Given the description of an element on the screen output the (x, y) to click on. 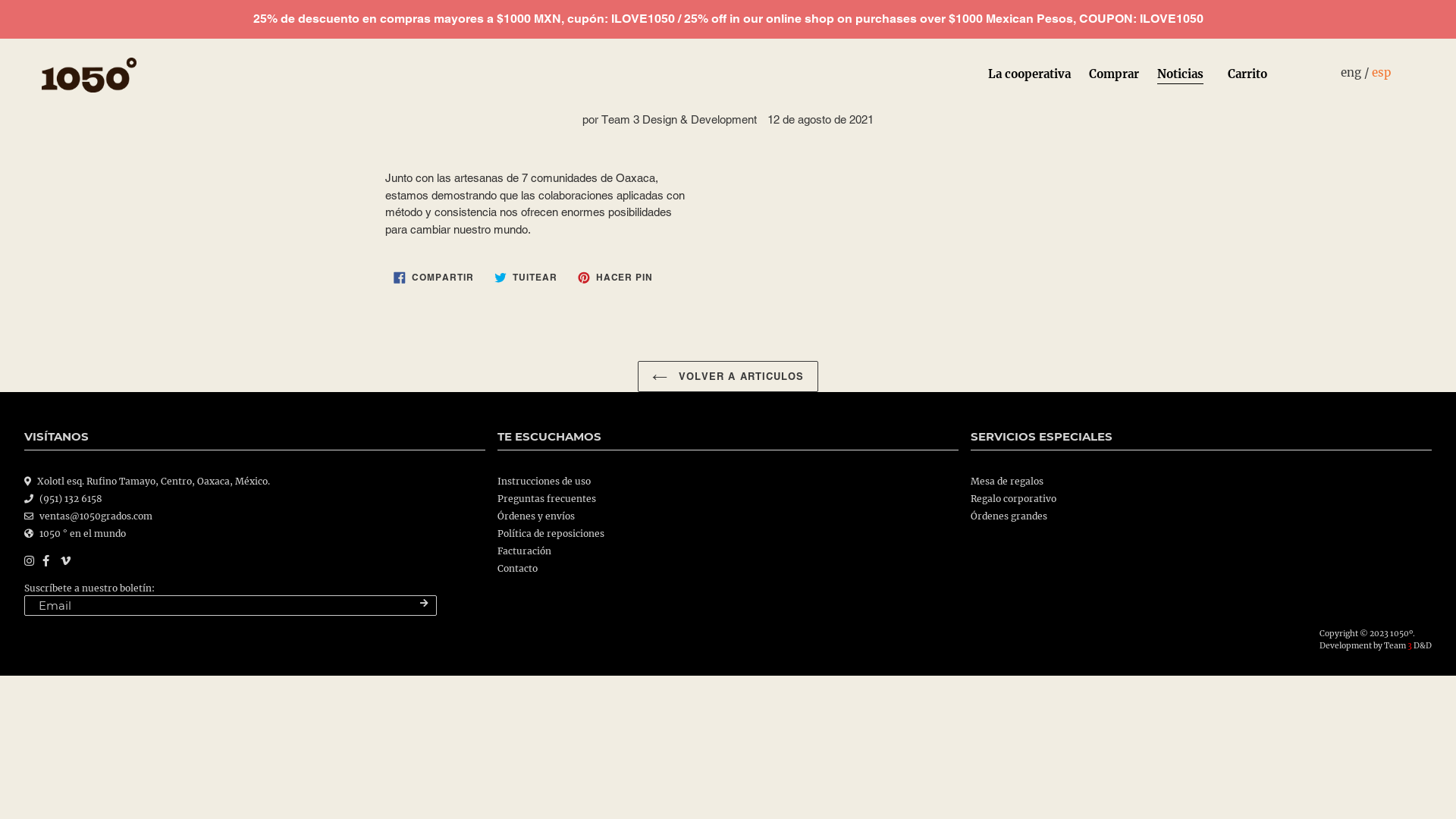
Preguntas frecuentes Element type: text (546, 498)
(951) 132 6158 Element type: text (70, 498)
Comprar Element type: text (1113, 74)
COMPARTIR
COMPARTIR EN FACEBOOK Element type: text (433, 277)
Instrucciones de uso Element type: text (543, 481)
TUITEAR
TUITEAR EN TWITTER Element type: text (525, 277)
HACER PIN
PINEAR EN PINTEREST Element type: text (615, 277)
Contacto Element type: text (517, 567)
La cooperativa Element type: text (1029, 74)
Carrito Element type: text (1247, 74)
Development by Team 3 D&D Element type: text (1375, 645)
ventas@1050grados.com Element type: text (95, 514)
Mesa de regalos Element type: text (1006, 481)
Regalo corporativo Element type: text (1013, 498)
VOLVER A ARTICULOS Element type: text (727, 376)
Noticias Element type: text (1180, 74)
